Given the description of an element on the screen output the (x, y) to click on. 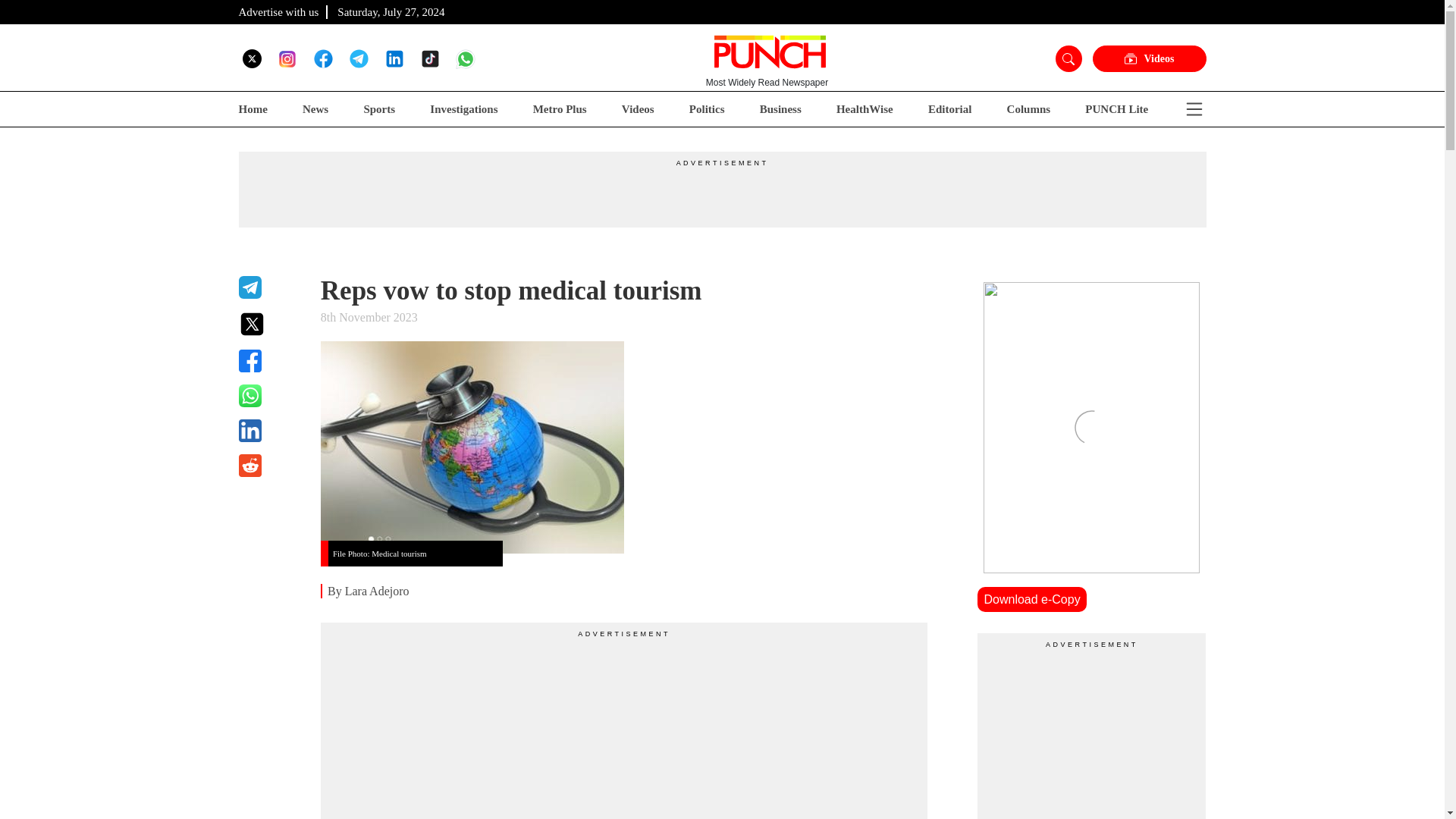
Politics (706, 109)
Home (252, 109)
Follow Us on Facebook (323, 58)
Share on Facbook (269, 360)
Share on Linkedin (269, 430)
Follow us on Tiktok (430, 58)
Videos (1148, 58)
Share on Twitter (269, 324)
Saturday, July 27, 2024 (390, 11)
Metro Plus (559, 109)
Business (781, 109)
News (315, 109)
Advertise with us (278, 11)
Follow us on Linkedin (395, 58)
PUNCH Lite (1116, 109)
